Given the description of an element on the screen output the (x, y) to click on. 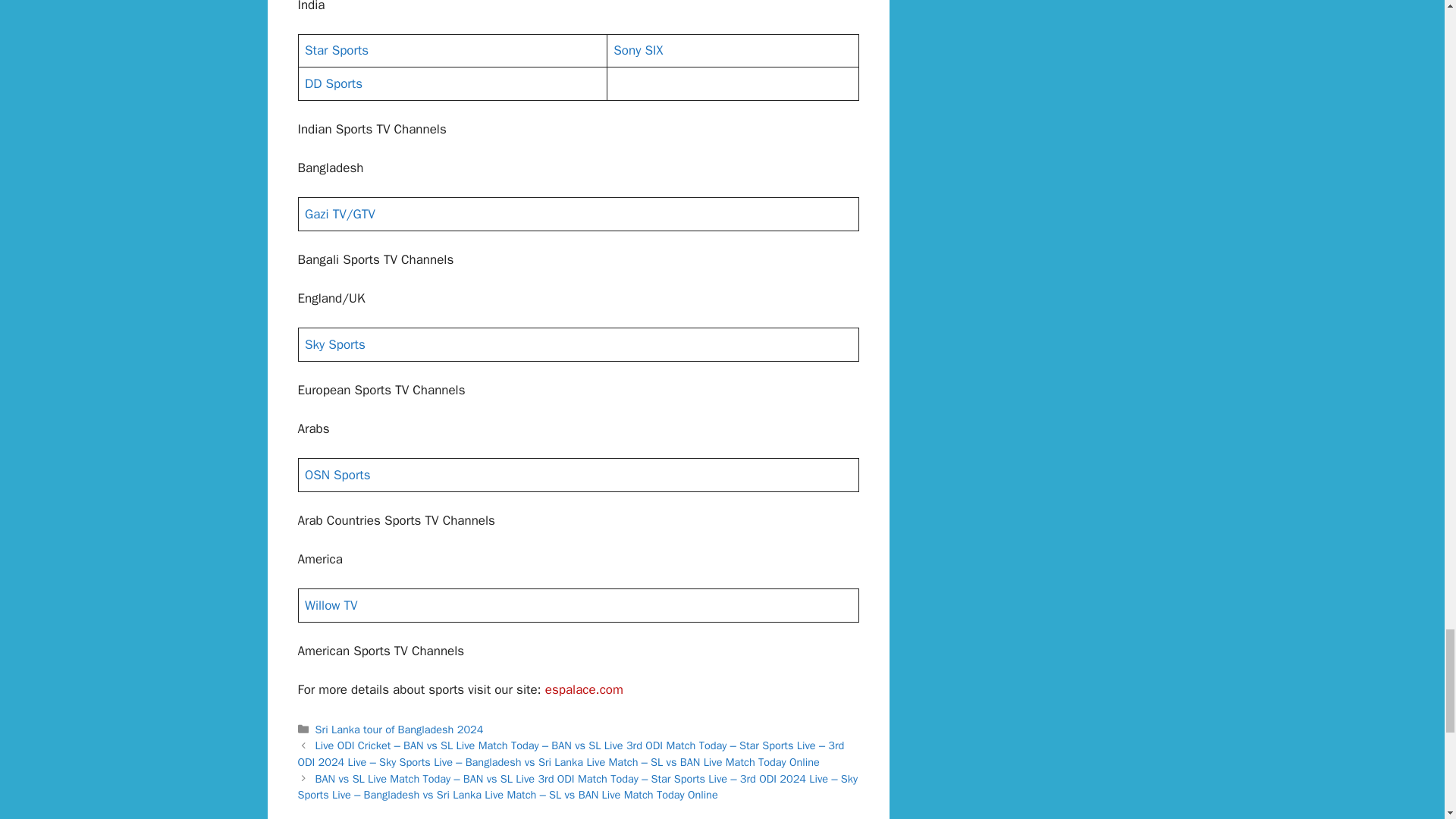
Sony SIX (637, 50)
Sri Lanka tour of Bangladesh 2024 (399, 729)
DD Sports (333, 83)
OSN Sports (337, 474)
Sky Sports (334, 344)
Willow TV (331, 605)
Star Sports (336, 50)
espalace.com (583, 689)
